Given the description of an element on the screen output the (x, y) to click on. 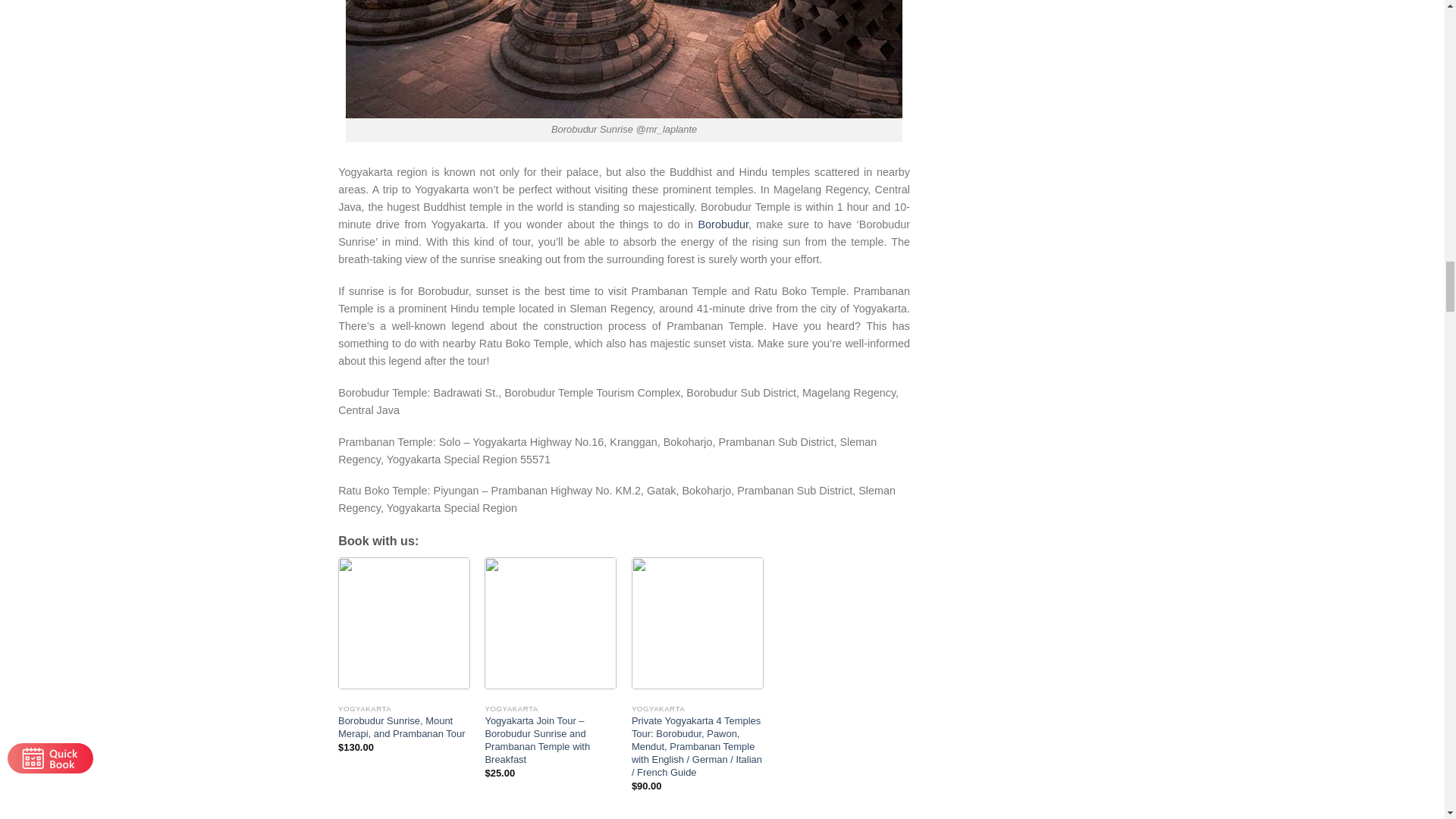
Borobudur (723, 224)
Borobudur Sunrise, Mount Merapi, and Prambanan Tour (403, 727)
